Given the description of an element on the screen output the (x, y) to click on. 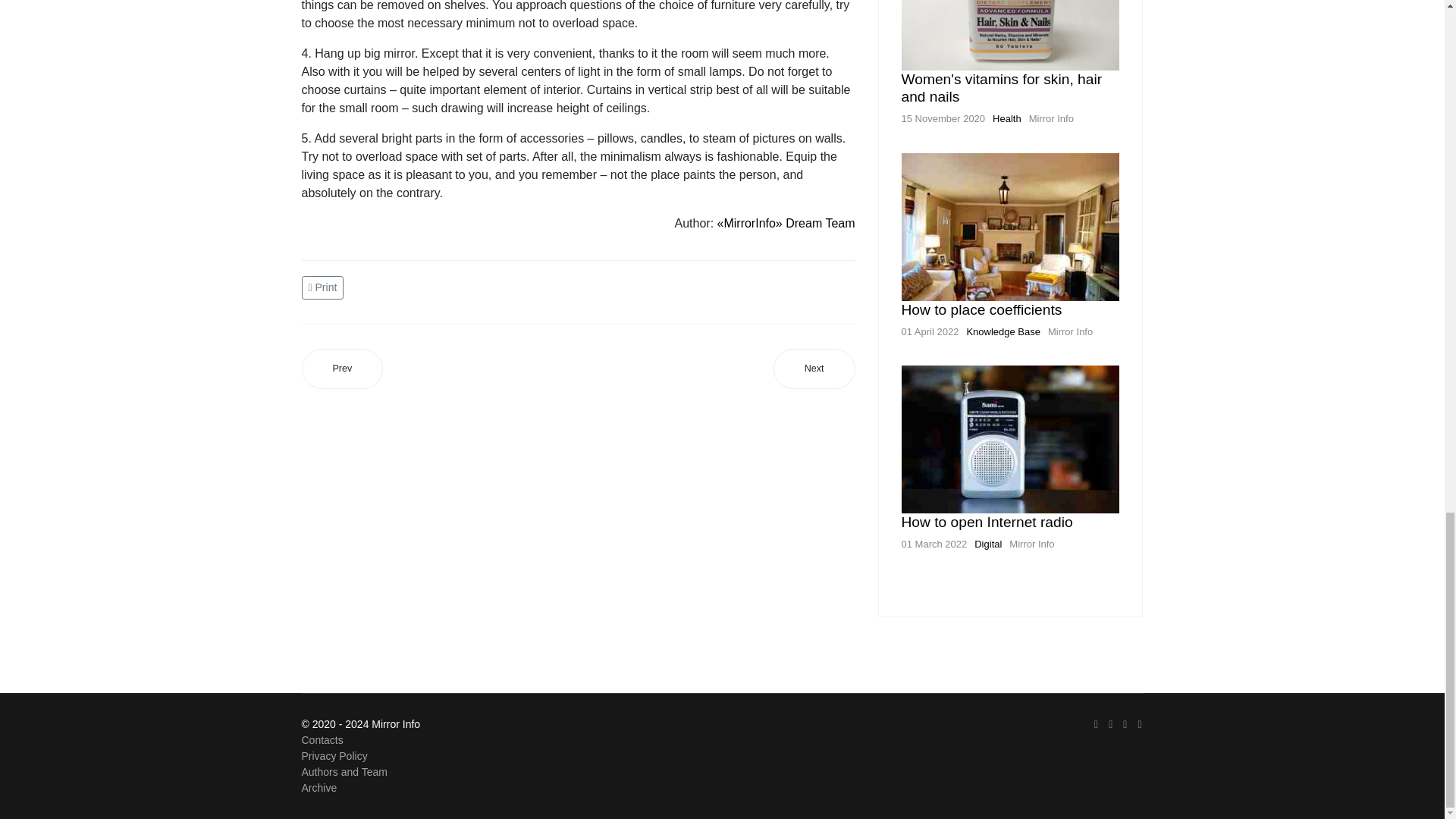
Prev (342, 368)
Next (814, 368)
Print (324, 286)
